Given the description of an element on the screen output the (x, y) to click on. 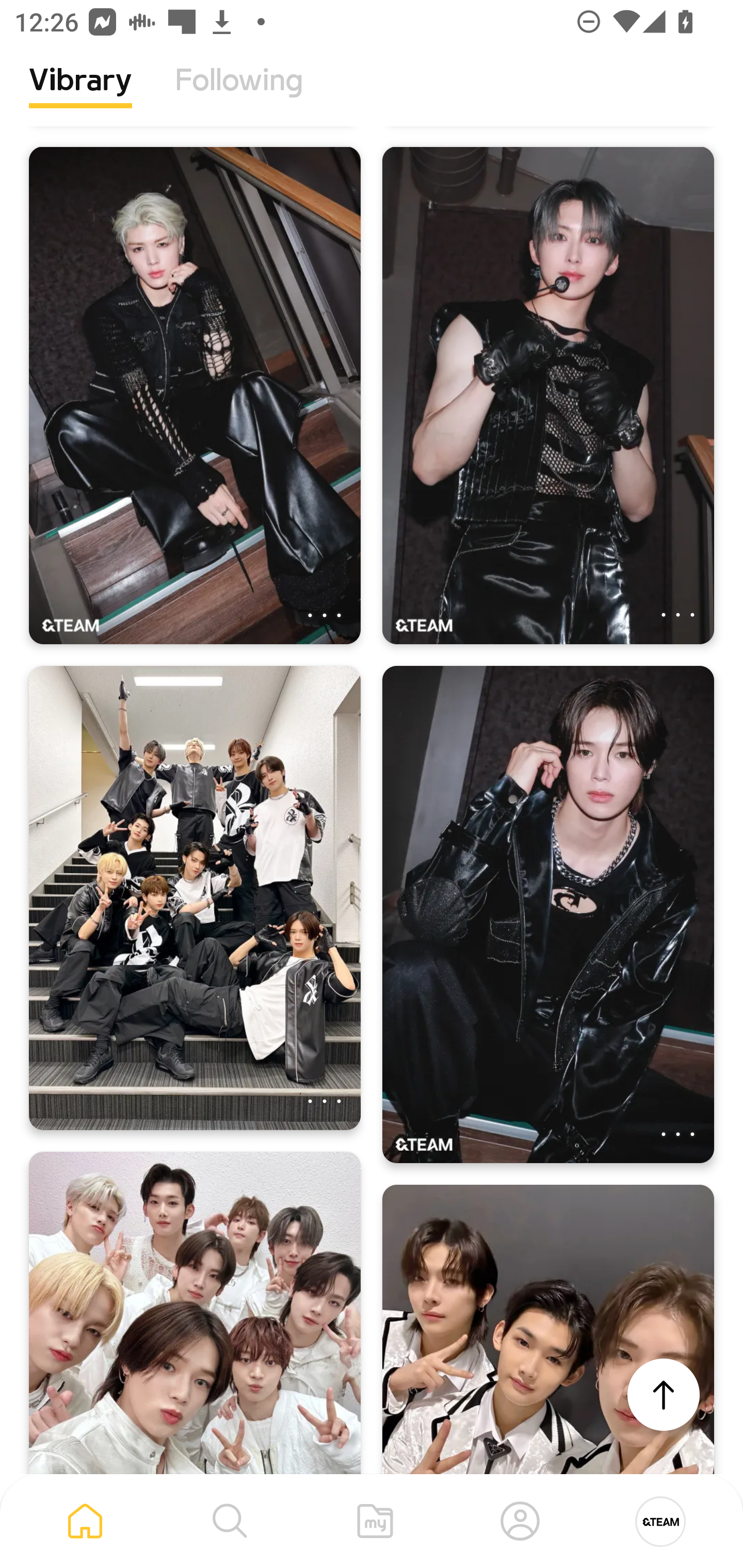
Vibrary (80, 95)
Following (239, 95)
